Given the description of an element on the screen output the (x, y) to click on. 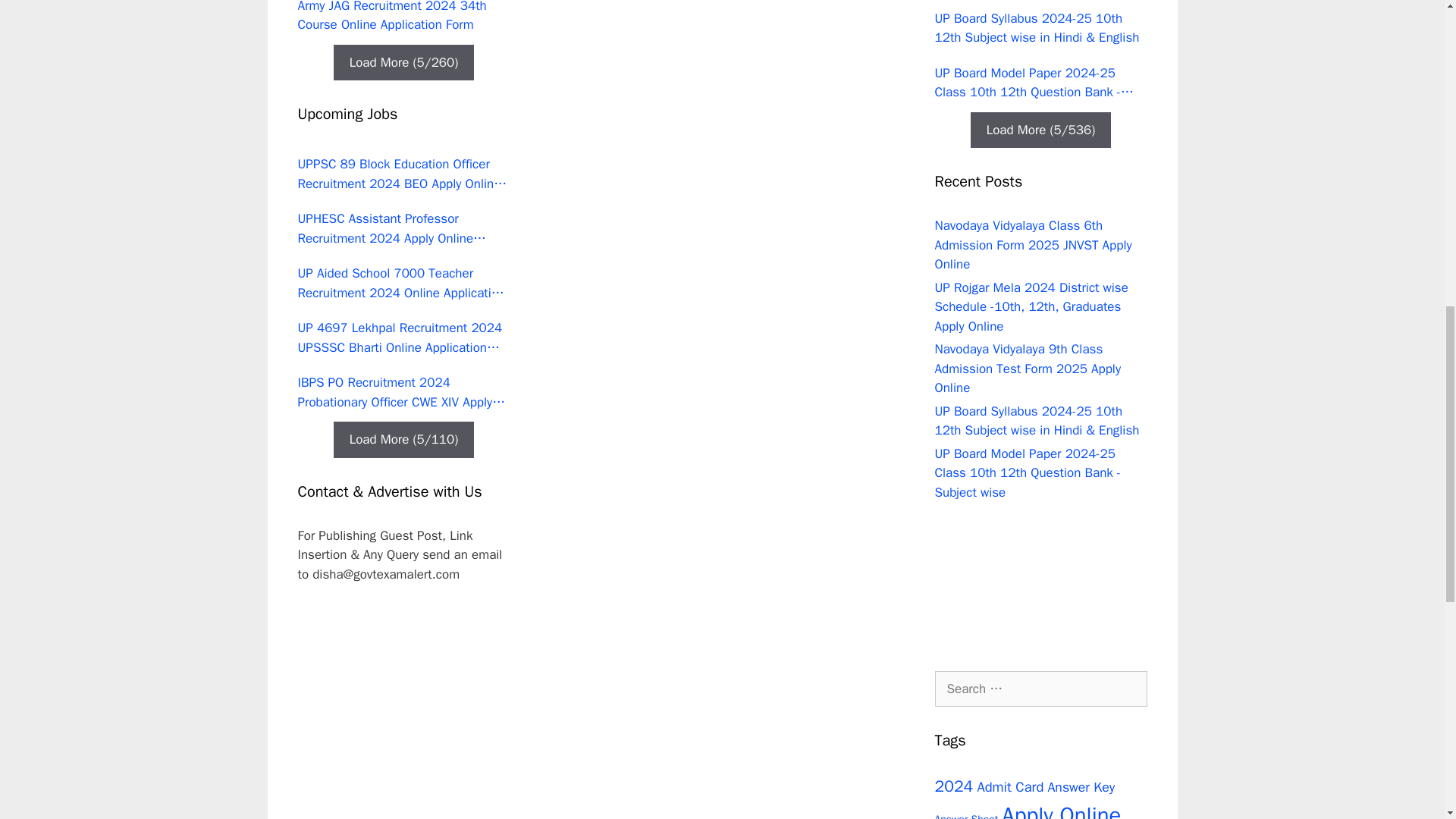
Scroll back to top (1406, 720)
Search for: (1040, 688)
